Given the description of an element on the screen output the (x, y) to click on. 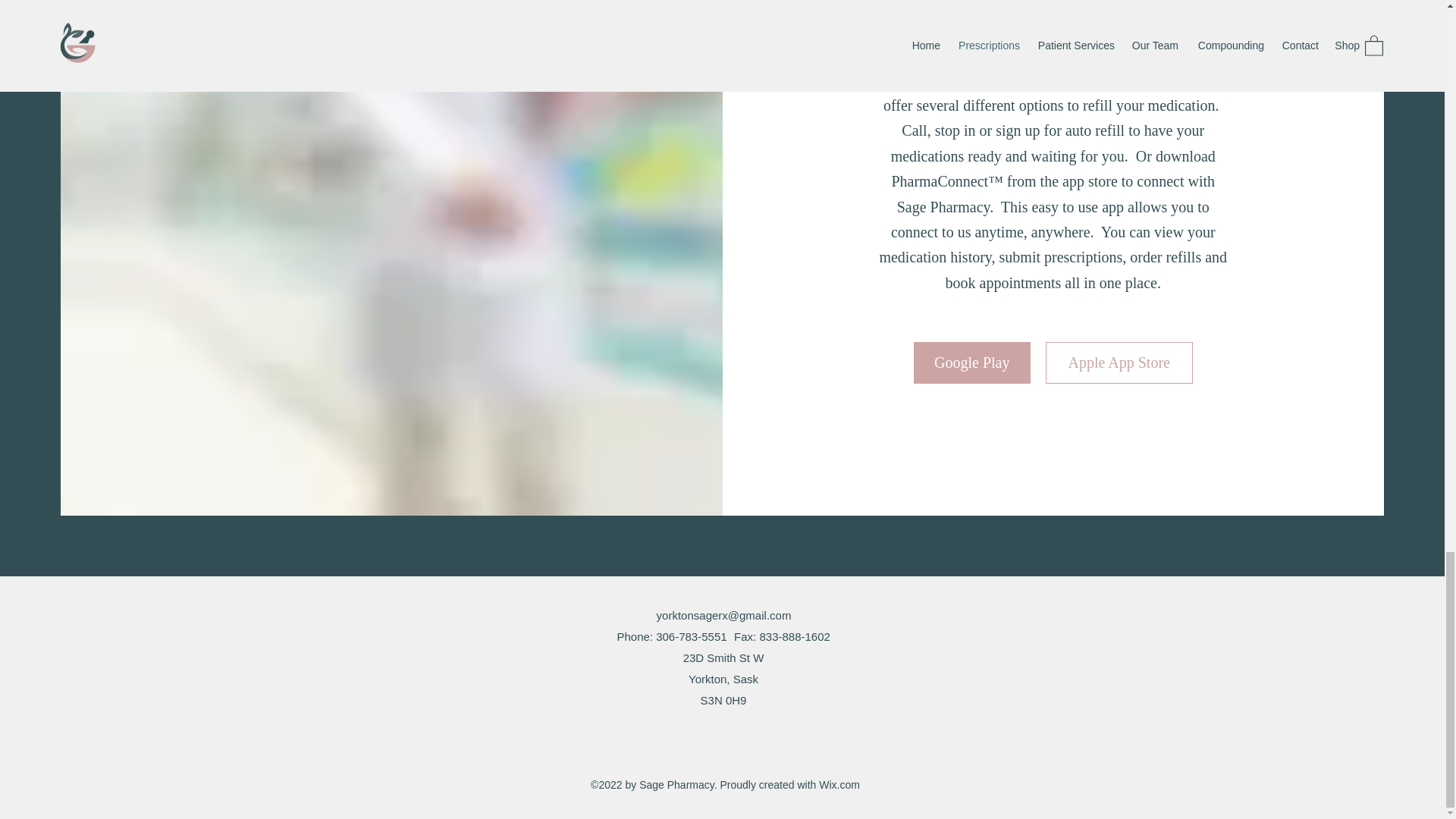
Apple App Store (1118, 363)
Google Play (972, 363)
